Given the description of an element on the screen output the (x, y) to click on. 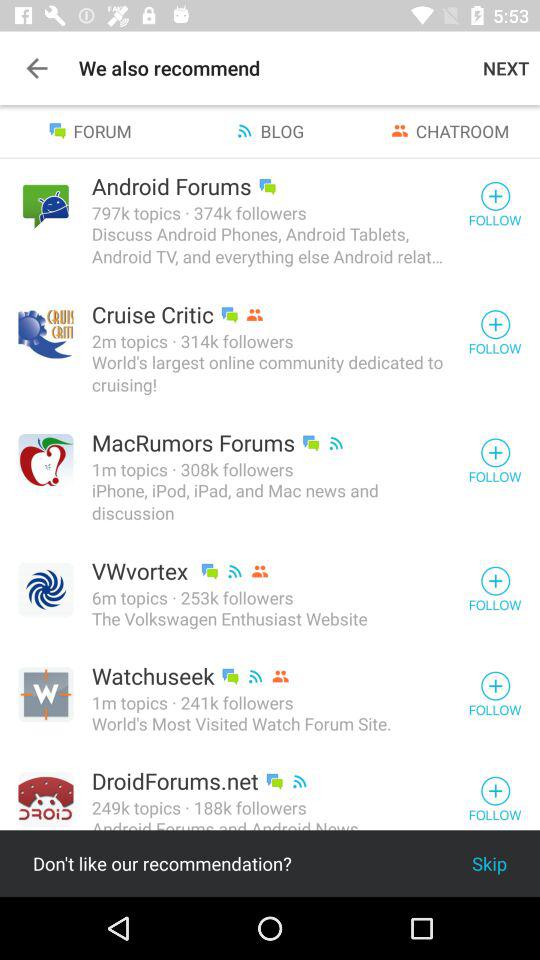
tap app next to the we also recommend icon (36, 68)
